Given the description of an element on the screen output the (x, y) to click on. 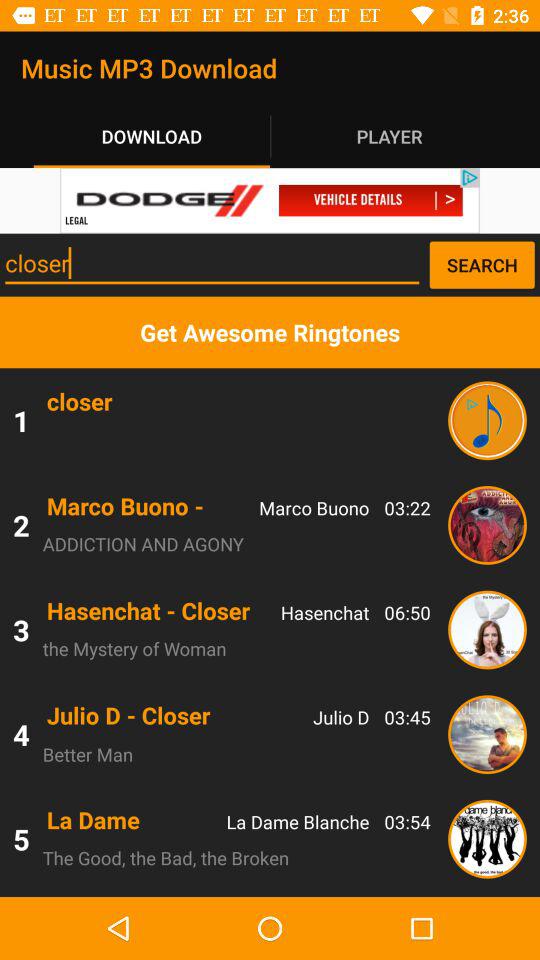
open advertisement (270, 200)
